Given the description of an element on the screen output the (x, y) to click on. 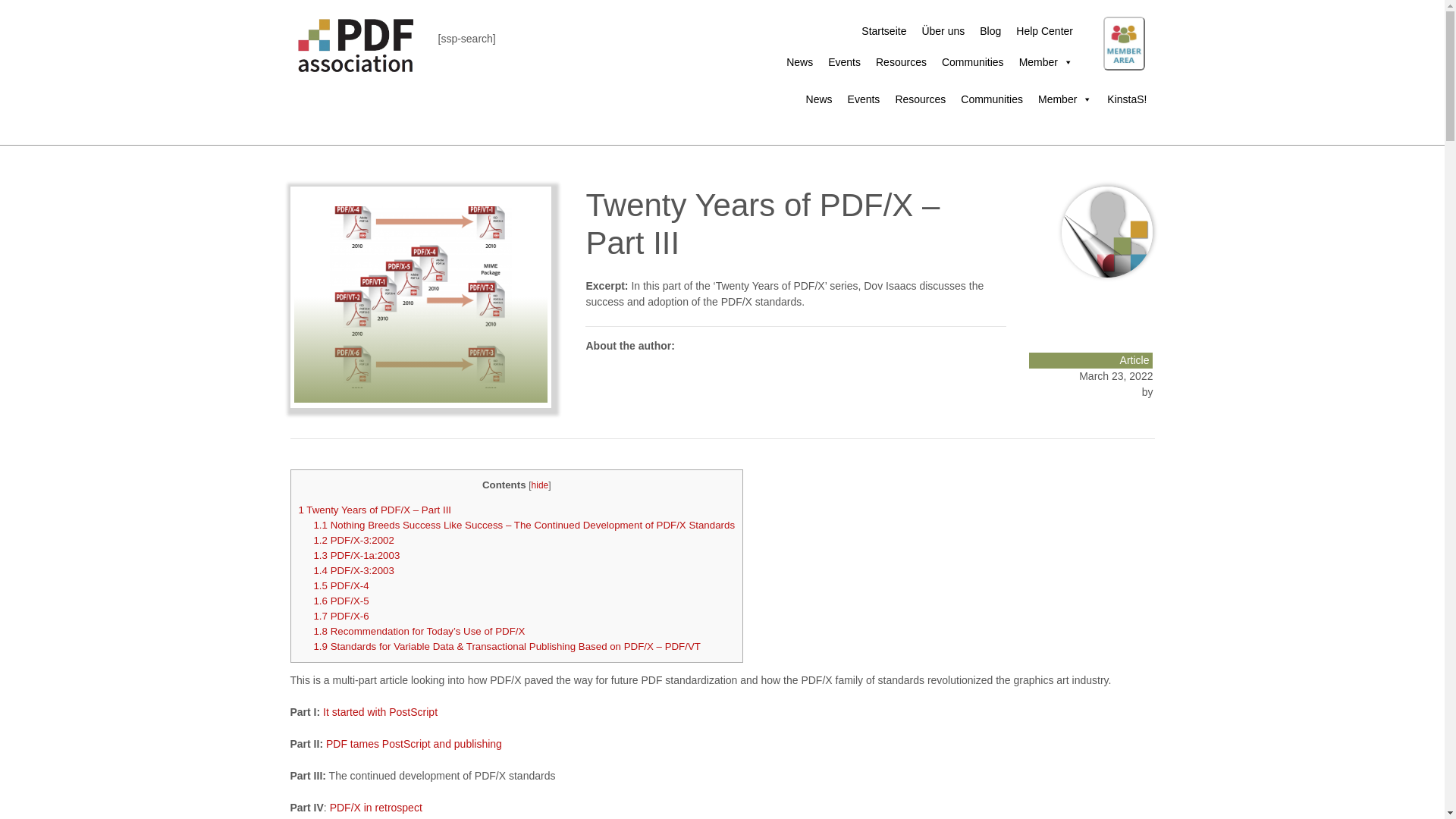
News (799, 61)
Startseite (883, 30)
Communities (991, 99)
News (818, 99)
Events (864, 99)
Communities (972, 61)
Events (844, 61)
hide (539, 484)
Resources (919, 99)
Help Center (1044, 30)
KinstaS! (1053, 91)
Member (1064, 99)
Resources (900, 61)
KinstaS! (1126, 99)
Member (1045, 61)
